Given the description of an element on the screen output the (x, y) to click on. 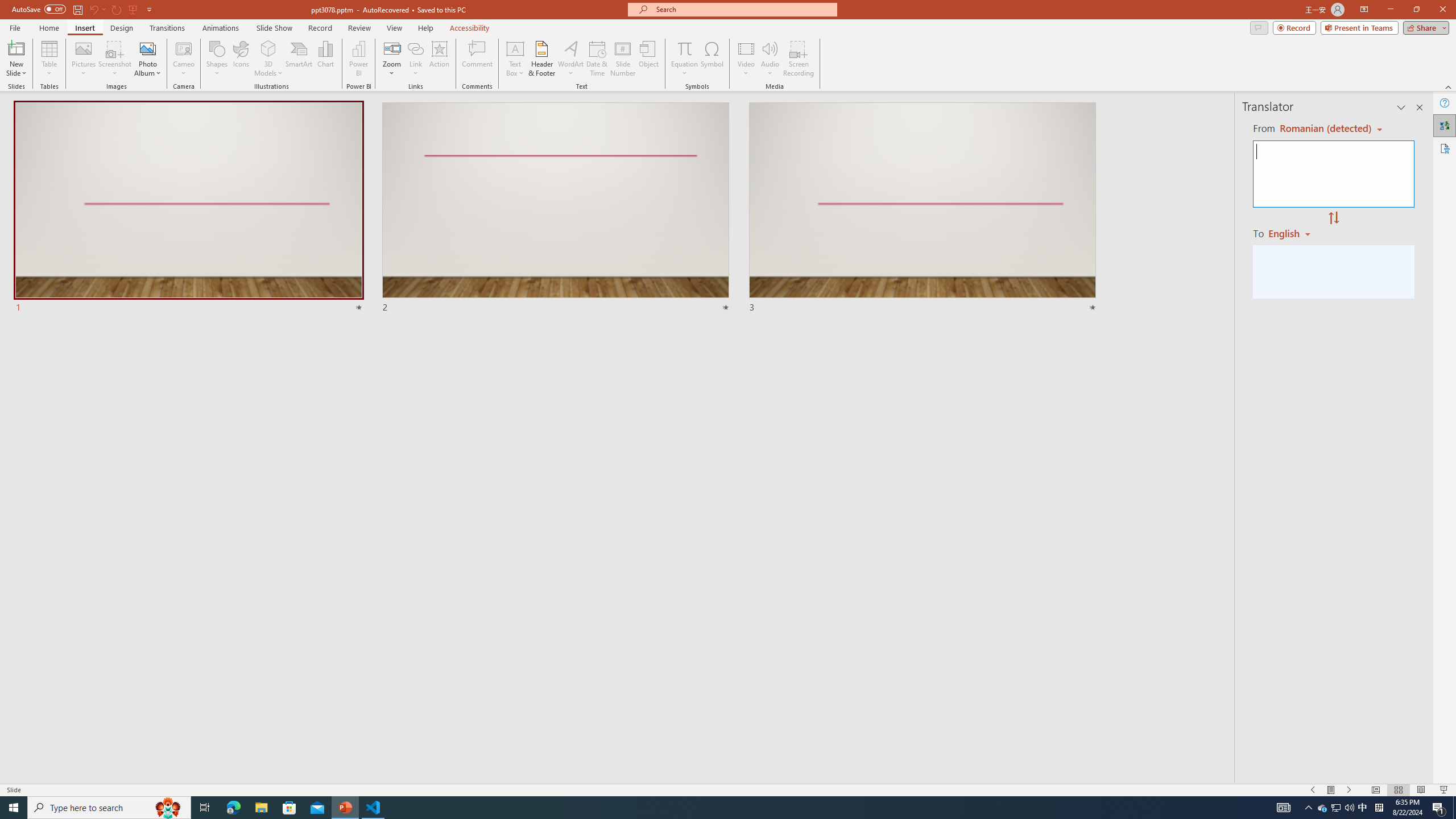
Slide Show Next On (1349, 790)
From Beginning (133, 9)
Collapse the Ribbon (1448, 86)
File Tab (15, 27)
Accessibility (1444, 147)
Video (745, 58)
Romanian (1293, 232)
Shapes (216, 58)
Translator (1444, 125)
Link (415, 58)
